Given the description of an element on the screen output the (x, y) to click on. 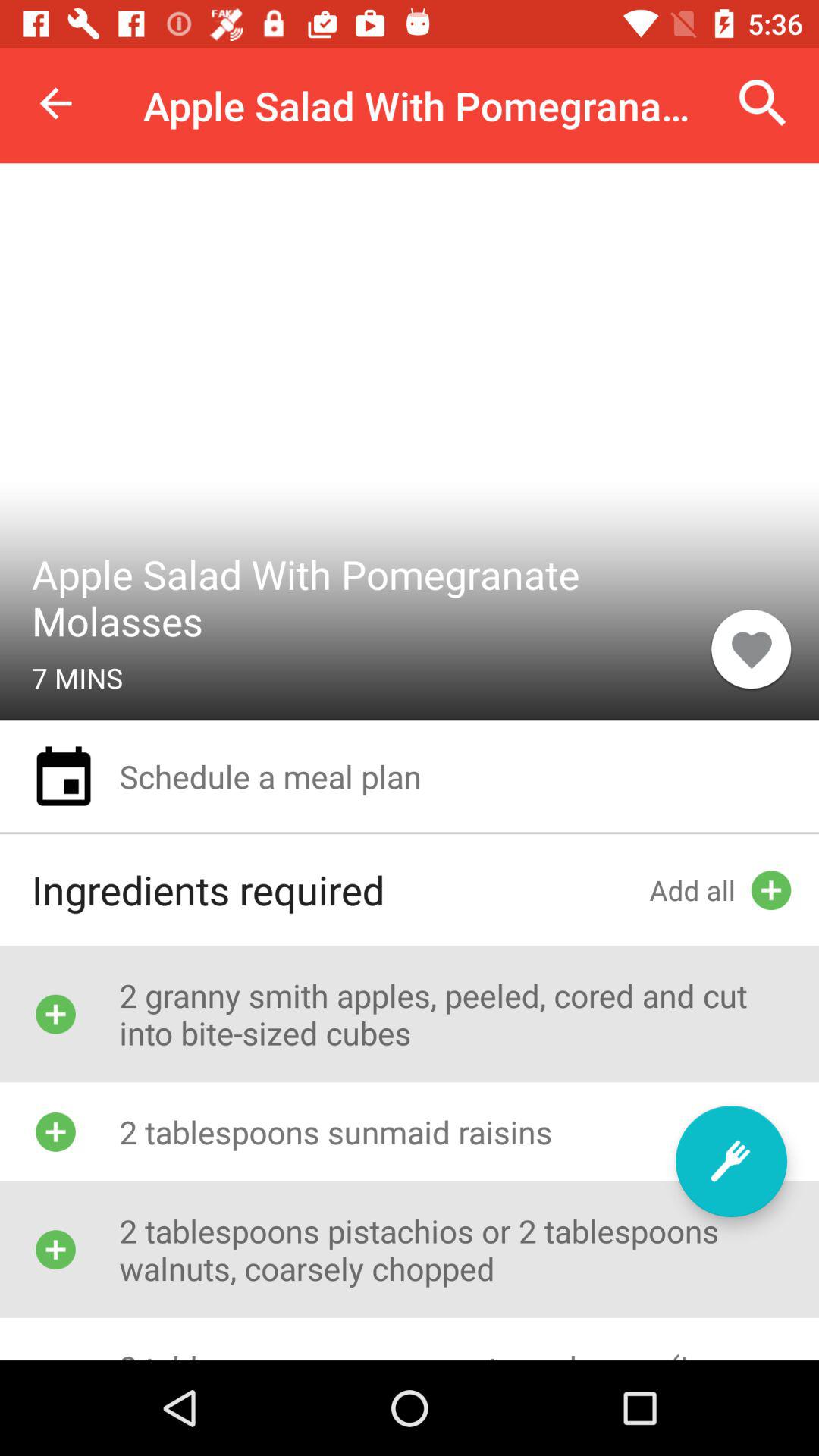
launch icon next to apple salad with icon (751, 648)
